Given the description of an element on the screen output the (x, y) to click on. 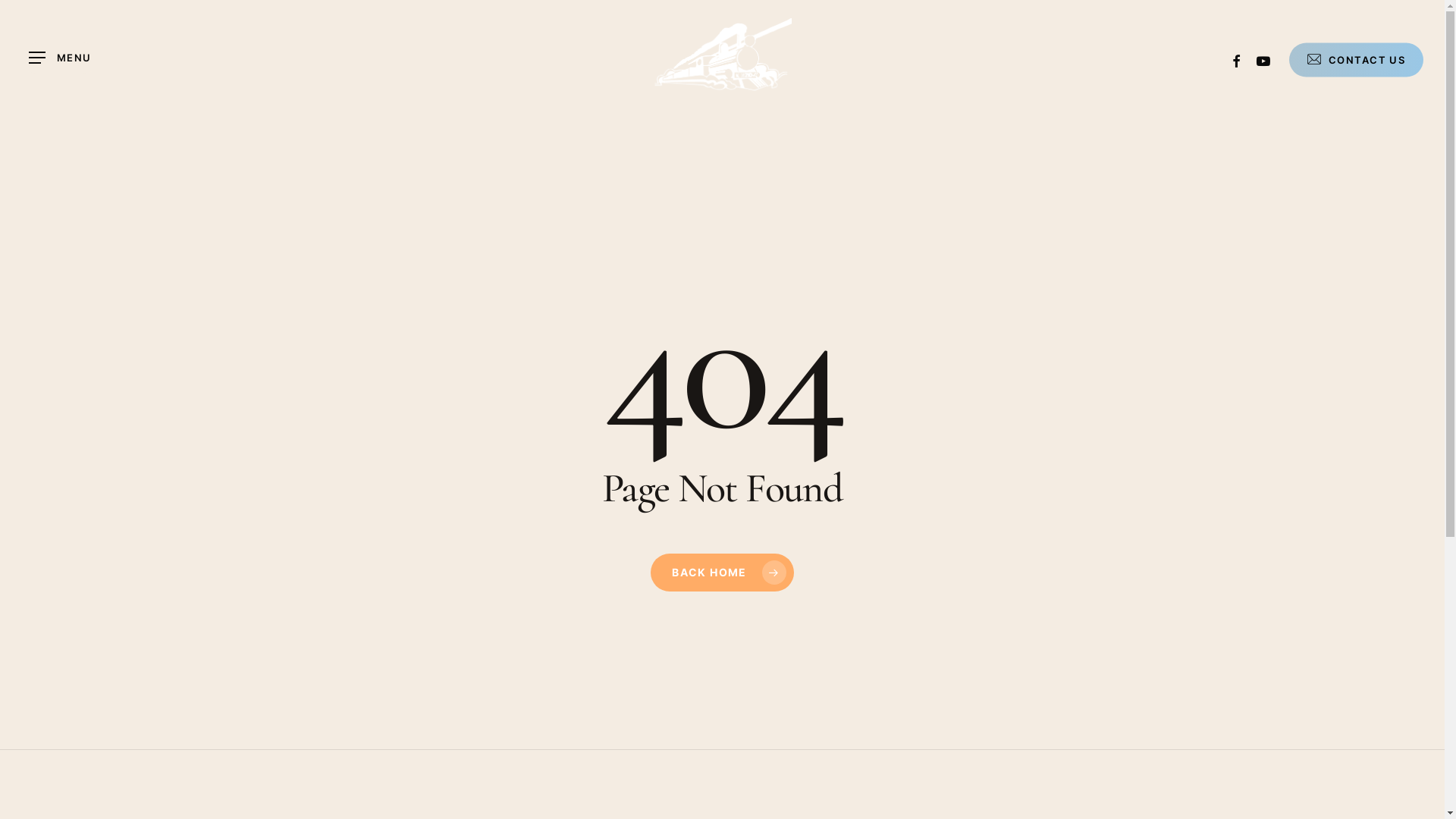
YOUTUBE Element type: text (1263, 59)
MENU Element type: text (59, 57)
FACEBOOK Element type: text (1236, 59)
BACK HOME Element type: text (721, 572)
CONTACT US Element type: text (1356, 59)
